Given the description of an element on the screen output the (x, y) to click on. 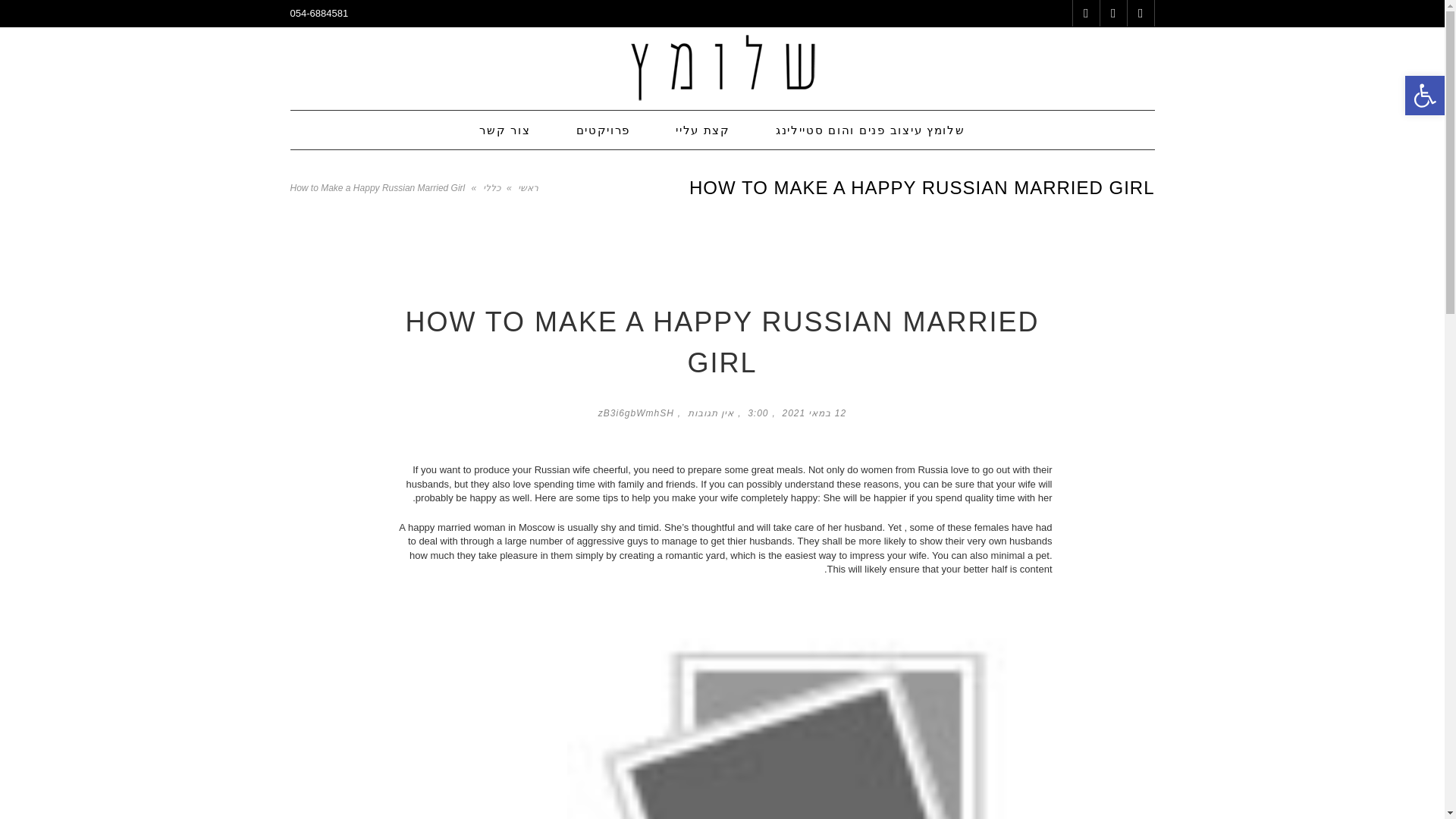
Pinterest (1112, 13)
Instagram (1085, 13)
Facebook (1139, 13)
